Given the description of an element on the screen output the (x, y) to click on. 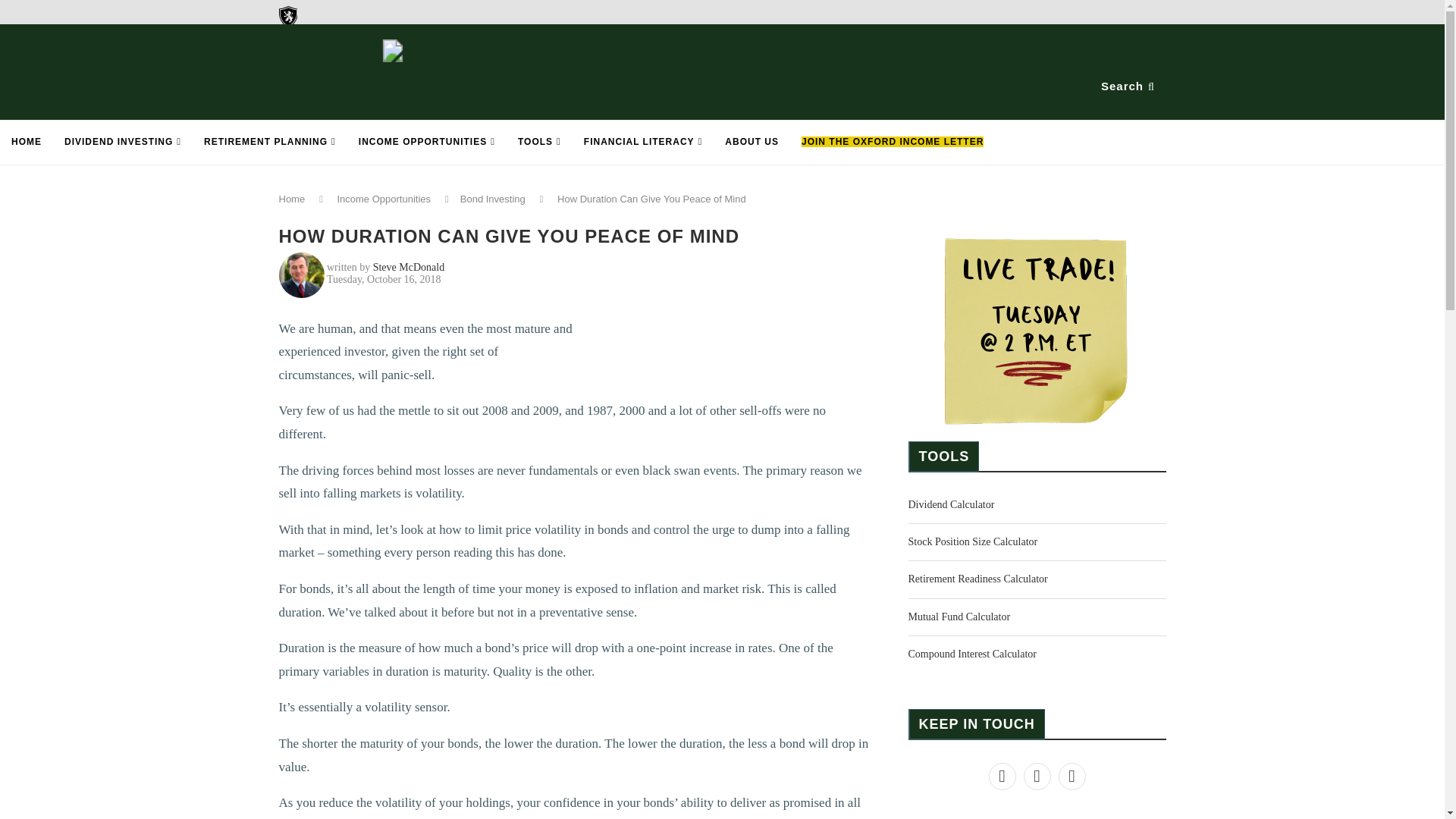
INCOME OPPORTUNITIES (426, 142)
Search (1129, 86)
An Oxford Club Publication (373, 30)
RETIREMENT PLANNING (269, 142)
HOME (26, 142)
DIVIDEND INVESTING (122, 142)
